Given the description of an element on the screen output the (x, y) to click on. 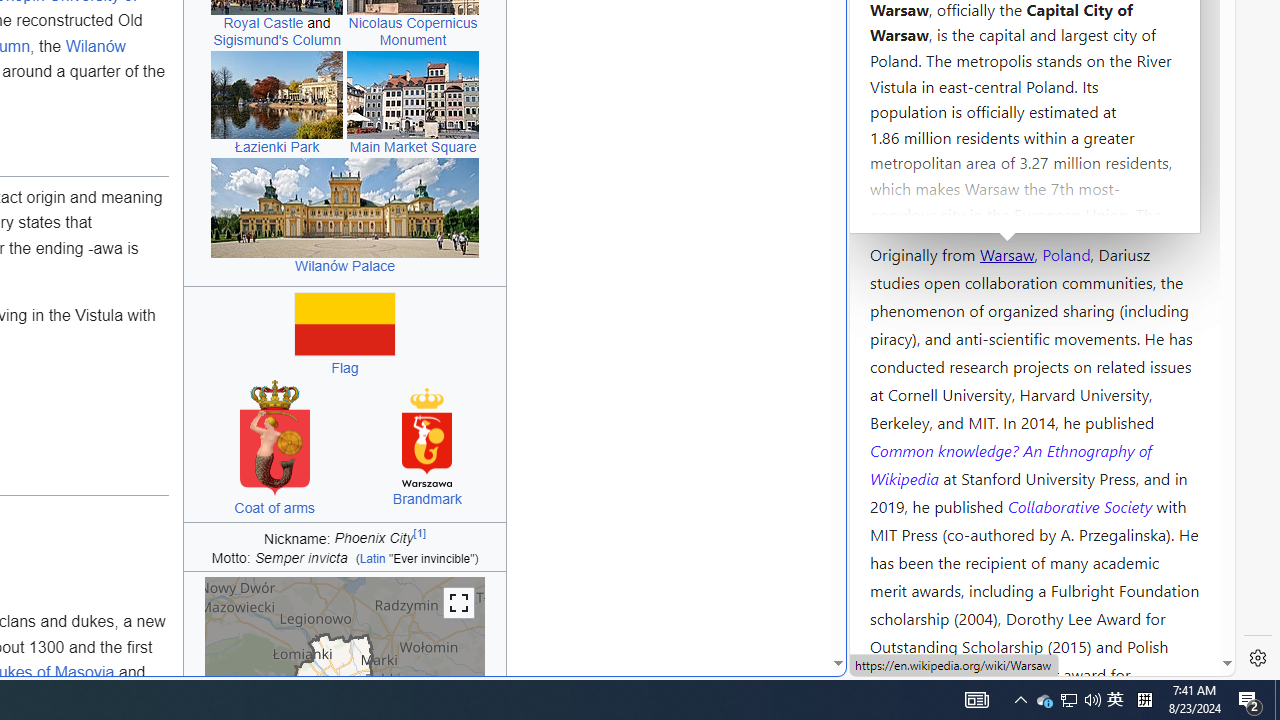
Flag (344, 368)
Latin (372, 559)
Class: mergedrow (344, 560)
Official logo of Warsaw (427, 438)
Brandmark (426, 499)
Coat of arms (275, 507)
